Given the description of an element on the screen output the (x, y) to click on. 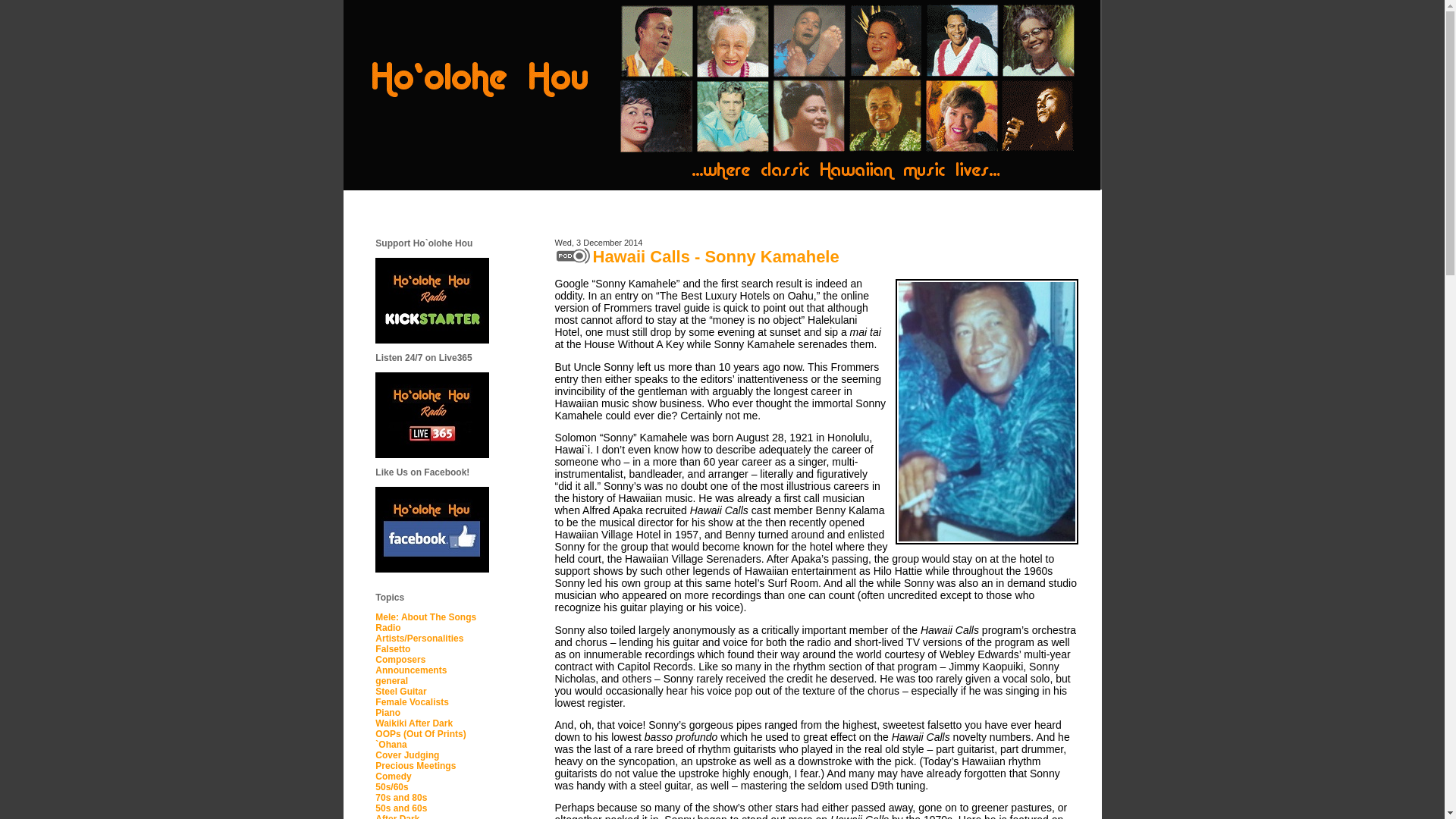
Waikiki After Dark (413, 723)
Cover Judging (407, 755)
Female Vocalists (411, 701)
Comedy (392, 776)
Piano (387, 712)
Radio (387, 627)
Mele: About The Songs (425, 616)
70s and 80s (400, 797)
Announcements (410, 670)
50s and 60s (400, 808)
